Given the description of an element on the screen output the (x, y) to click on. 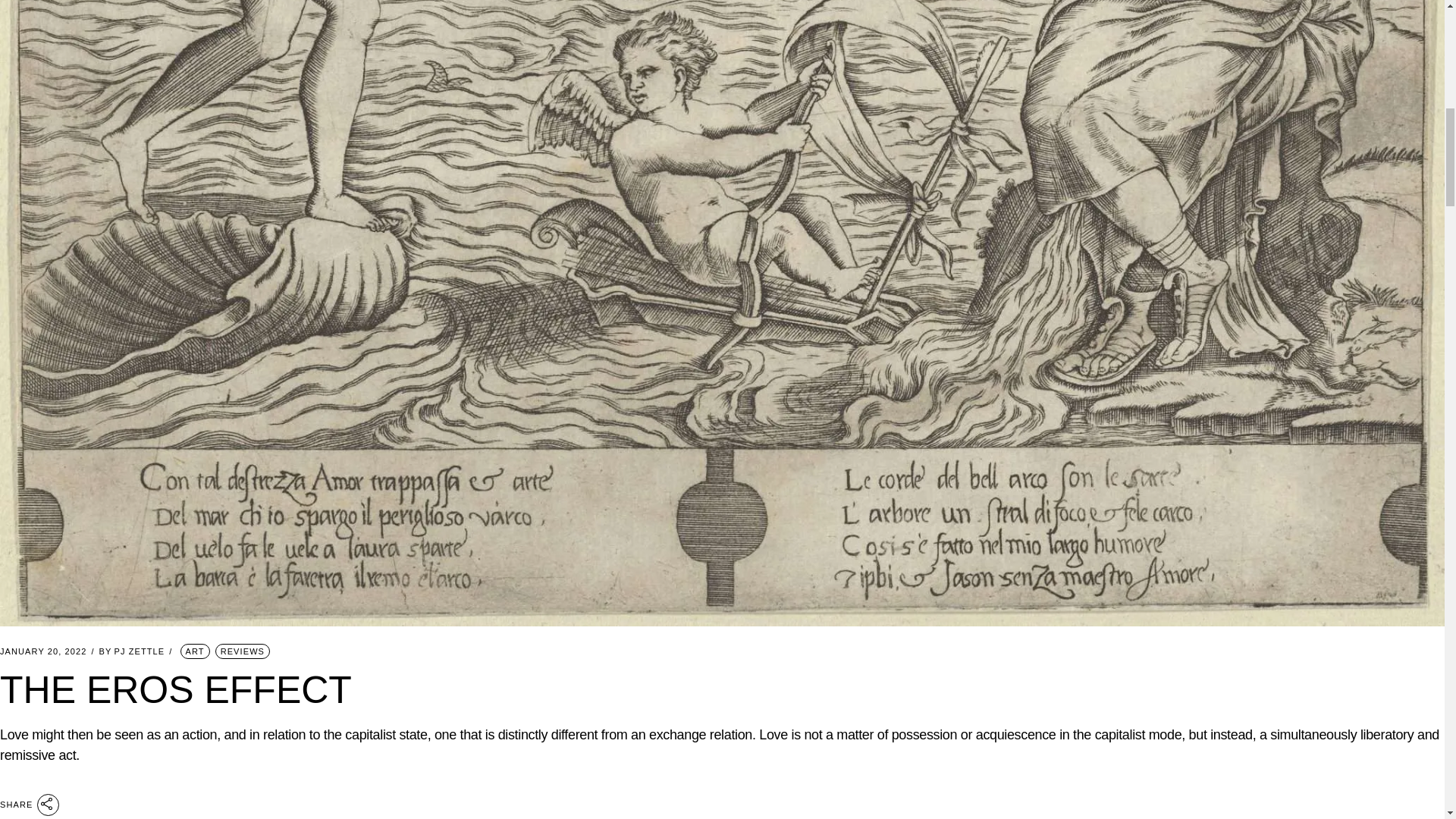
THE EROS EFFECT (176, 690)
SHARE (29, 803)
ART (194, 651)
JANUARY 20, 2022 (42, 651)
REVIEWS (242, 651)
